Given the description of an element on the screen output the (x, y) to click on. 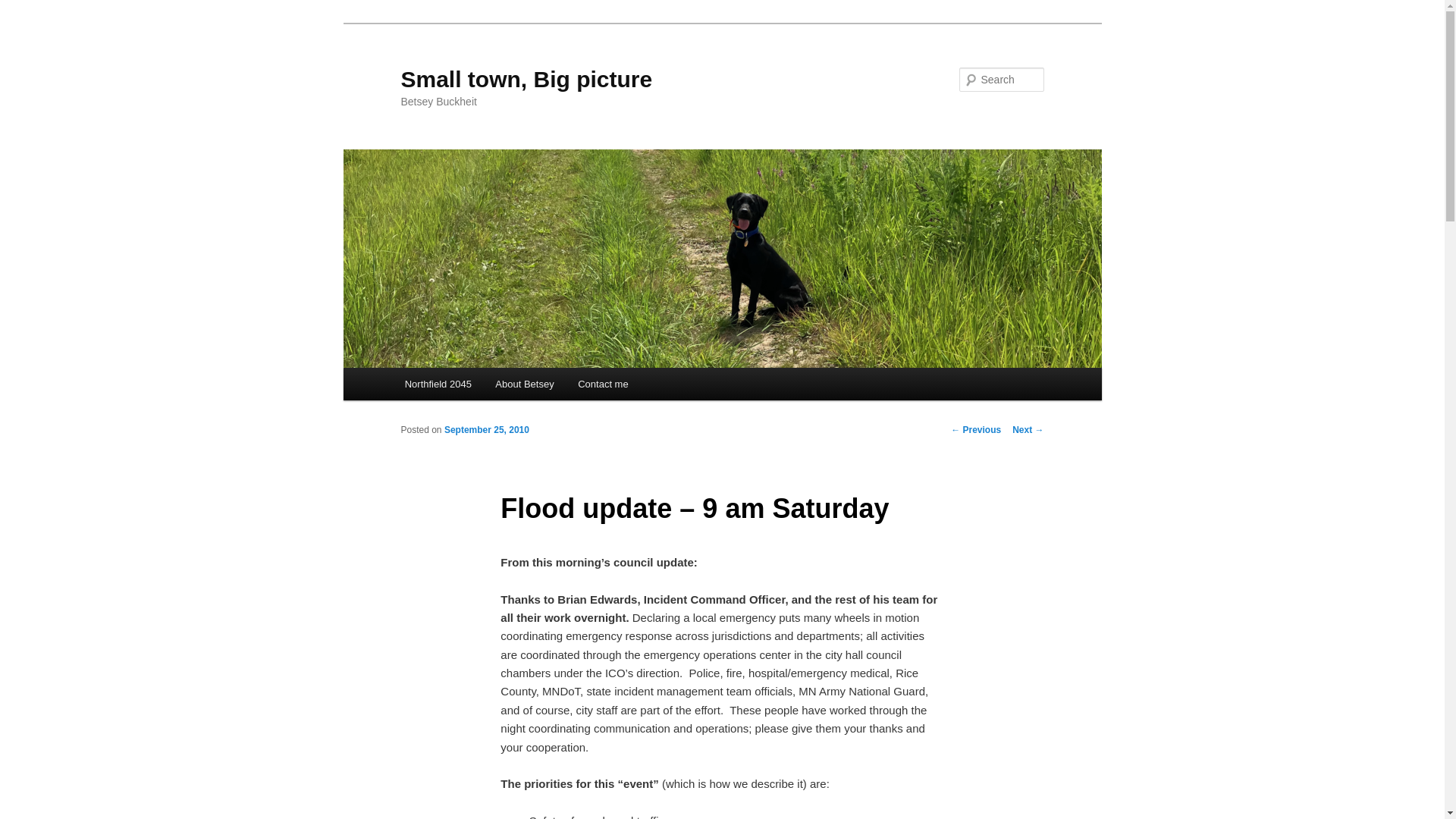
Contact me (603, 383)
8:55 AM (486, 429)
About Betsey (524, 383)
Small town, Big picture (526, 78)
Search (24, 8)
September 25, 2010 (486, 429)
Northfield 2045 (438, 383)
